Given the description of an element on the screen output the (x, y) to click on. 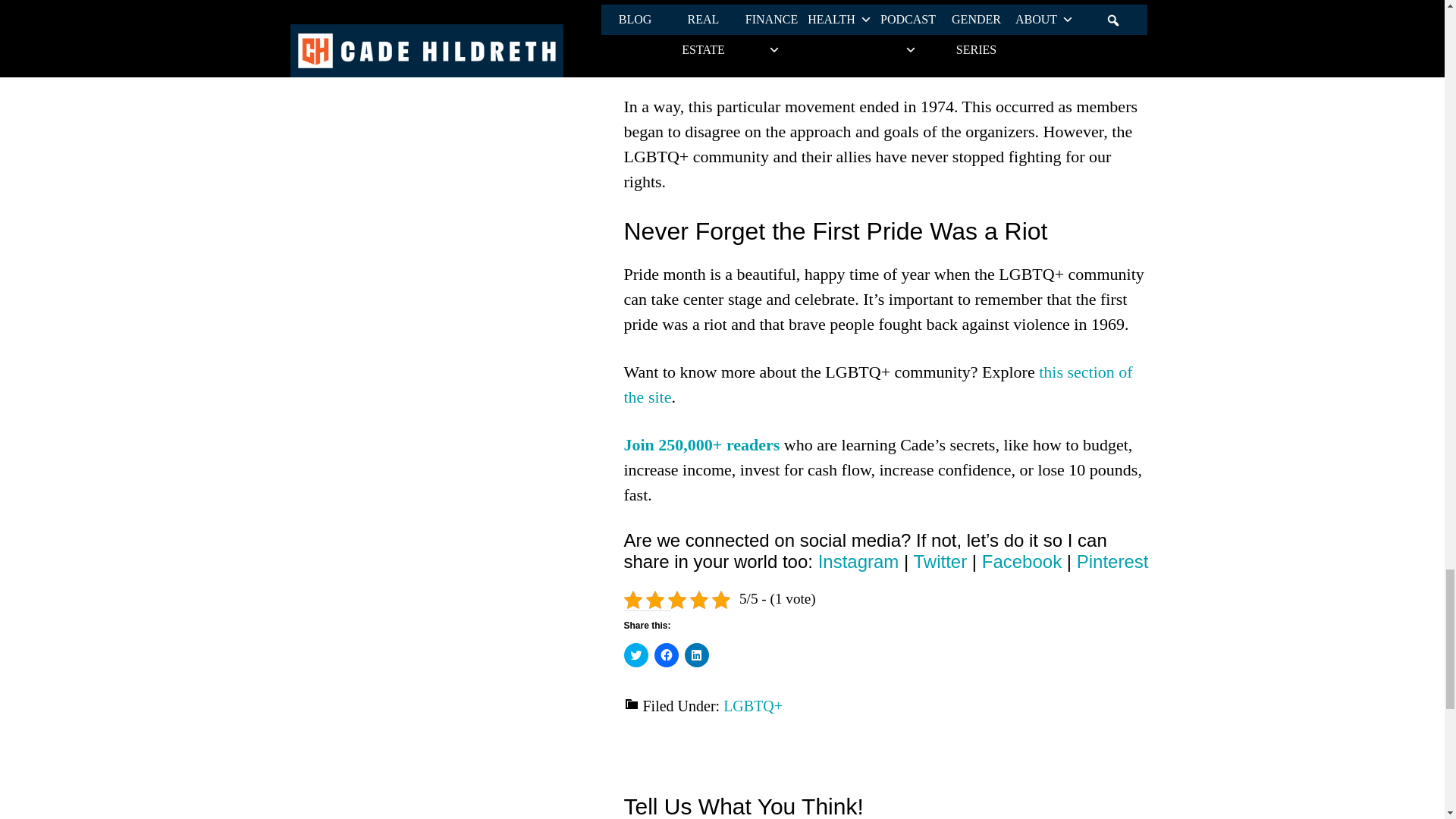
Click to share on Facebook (665, 654)
Click to share on LinkedIn (695, 654)
Instagram (858, 561)
Click to share on Twitter (635, 654)
this section of the site (877, 384)
